Given the description of an element on the screen output the (x, y) to click on. 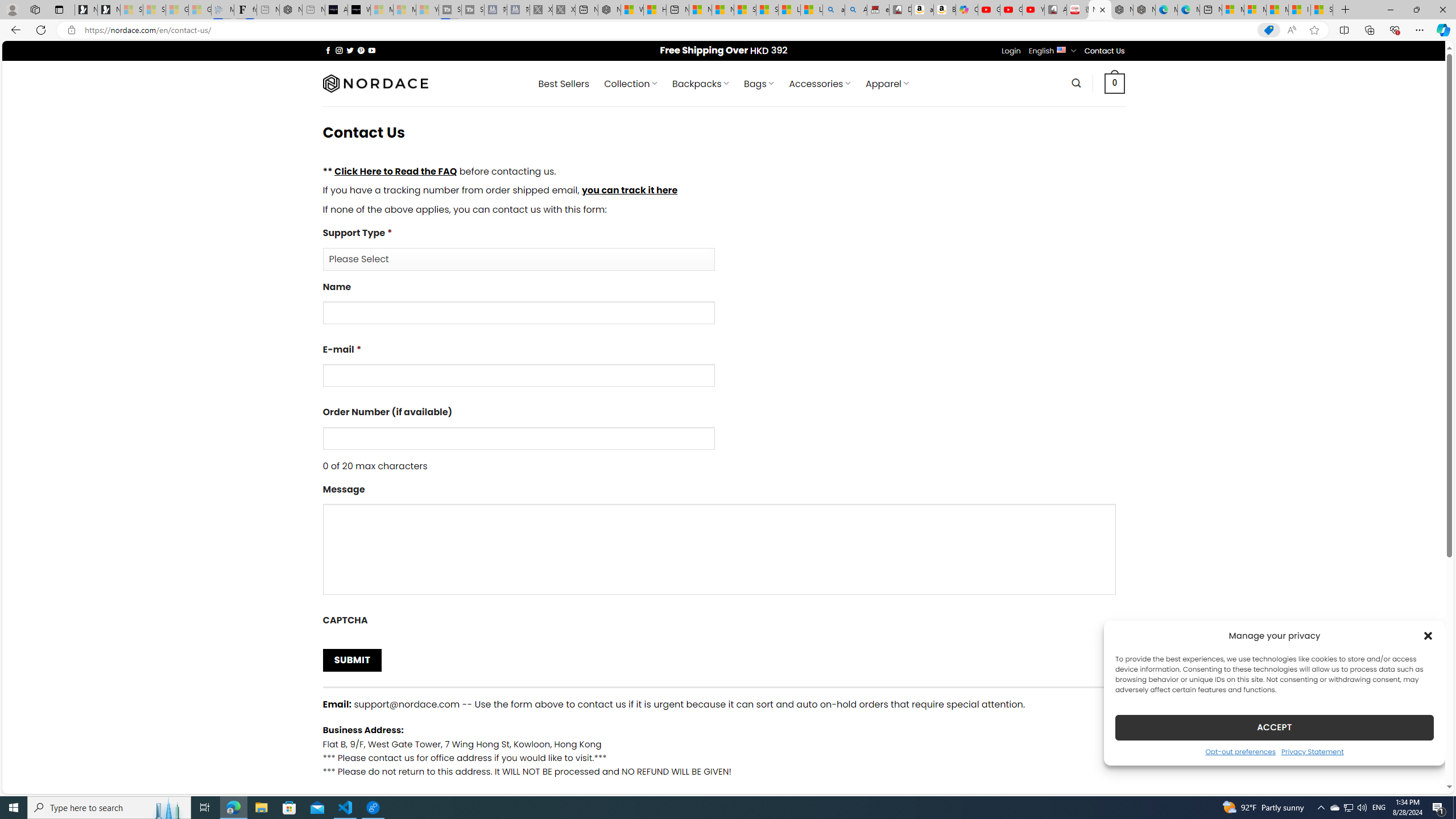
YouTube Kids - An App Created for Kids to Explore Content (1033, 9)
Message (723, 543)
Support Type* (723, 248)
Nordace - My Account (609, 9)
